Given the description of an element on the screen output the (x, y) to click on. 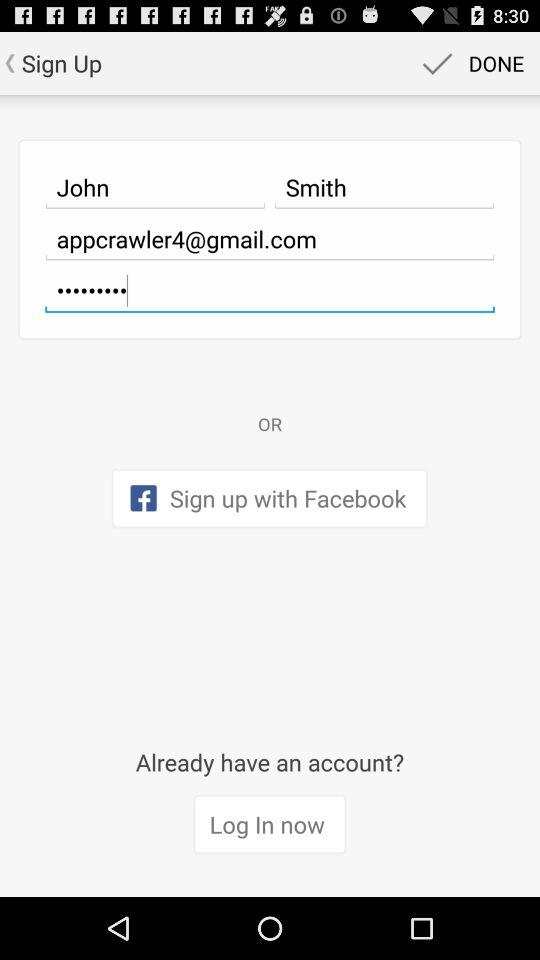
turn on icon to the left of smith (155, 187)
